Given the description of an element on the screen output the (x, y) to click on. 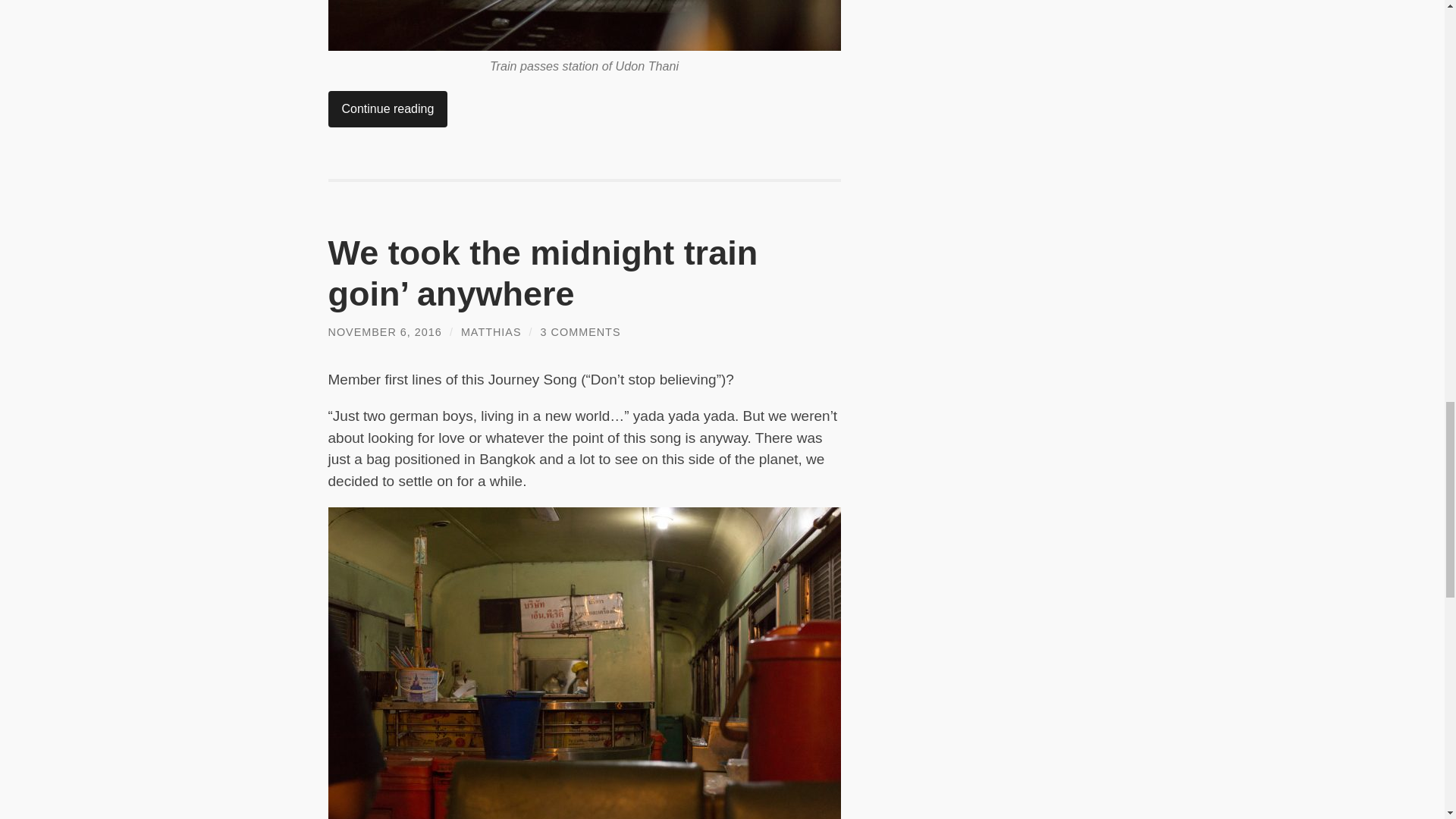
3 COMMENTS (580, 331)
MATTHIAS (491, 331)
Continue reading (386, 108)
NOVEMBER 6, 2016 (384, 331)
Posts by Matthias (491, 331)
